Given the description of an element on the screen output the (x, y) to click on. 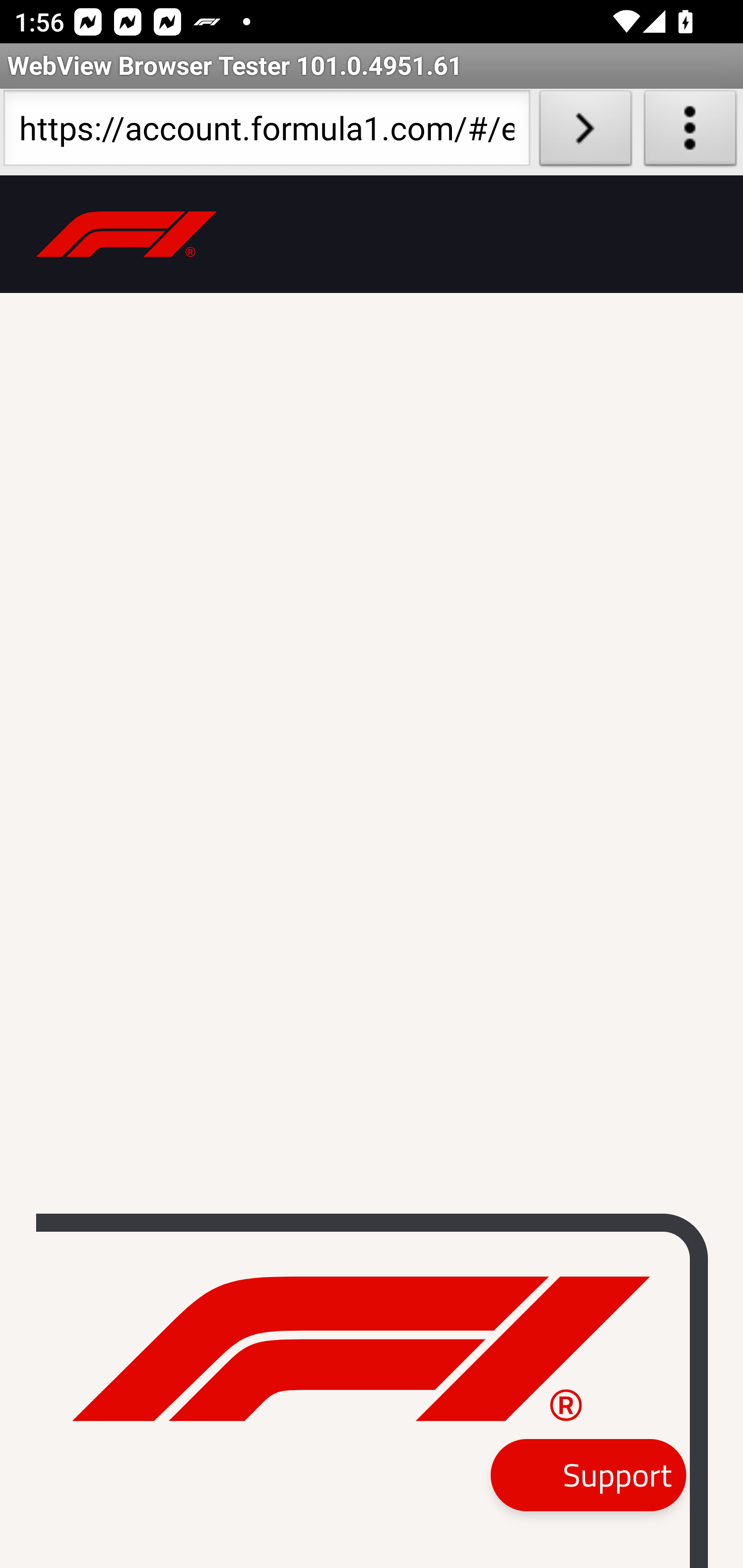
Load URL (585, 132)
About WebView (690, 132)
f1_logo (127, 234)
f1_logo (361, 1349)
Support (588, 1476)
